Given the description of an element on the screen output the (x, y) to click on. 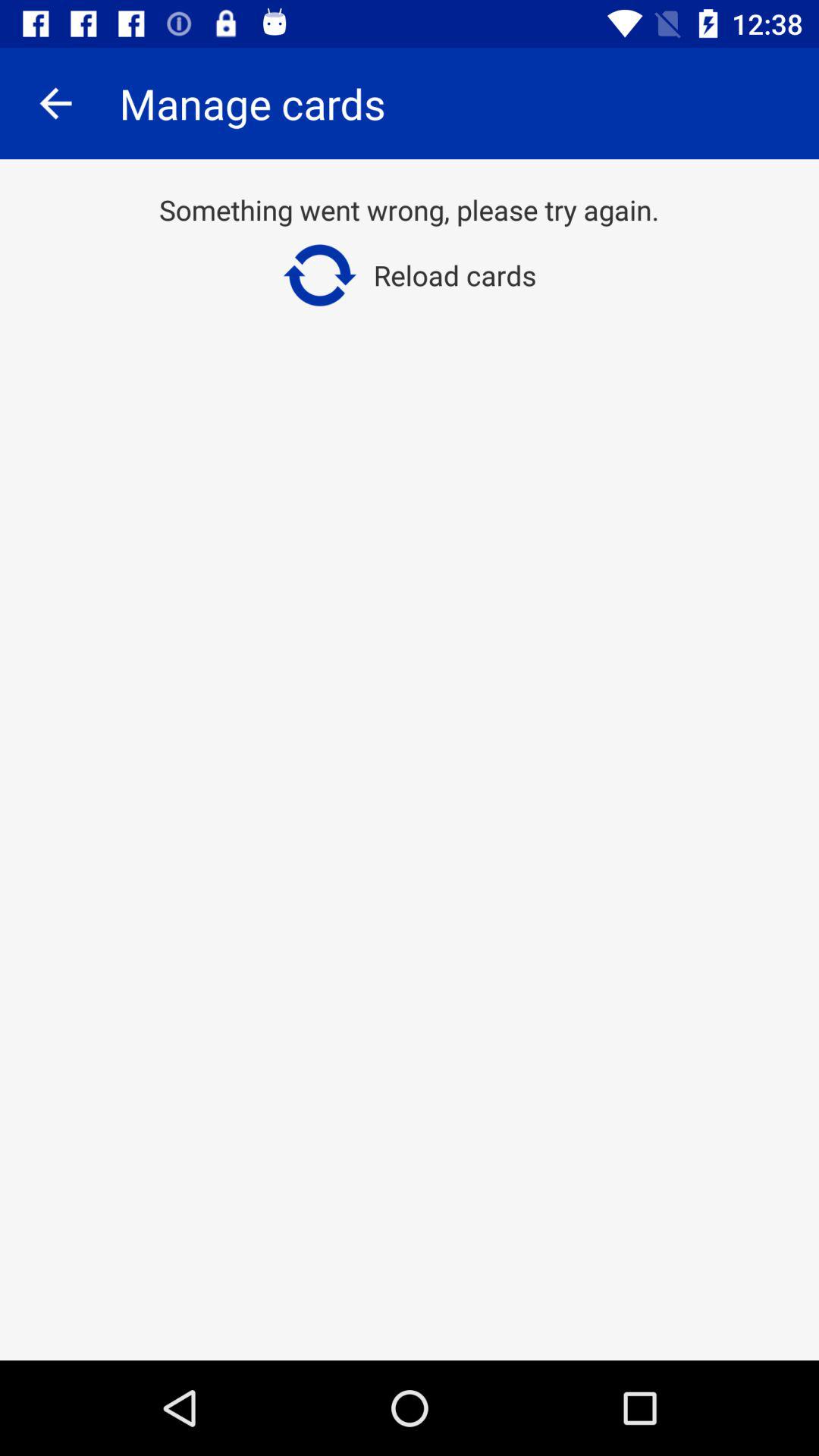
select the reload cards (409, 275)
